Given the description of an element on the screen output the (x, y) to click on. 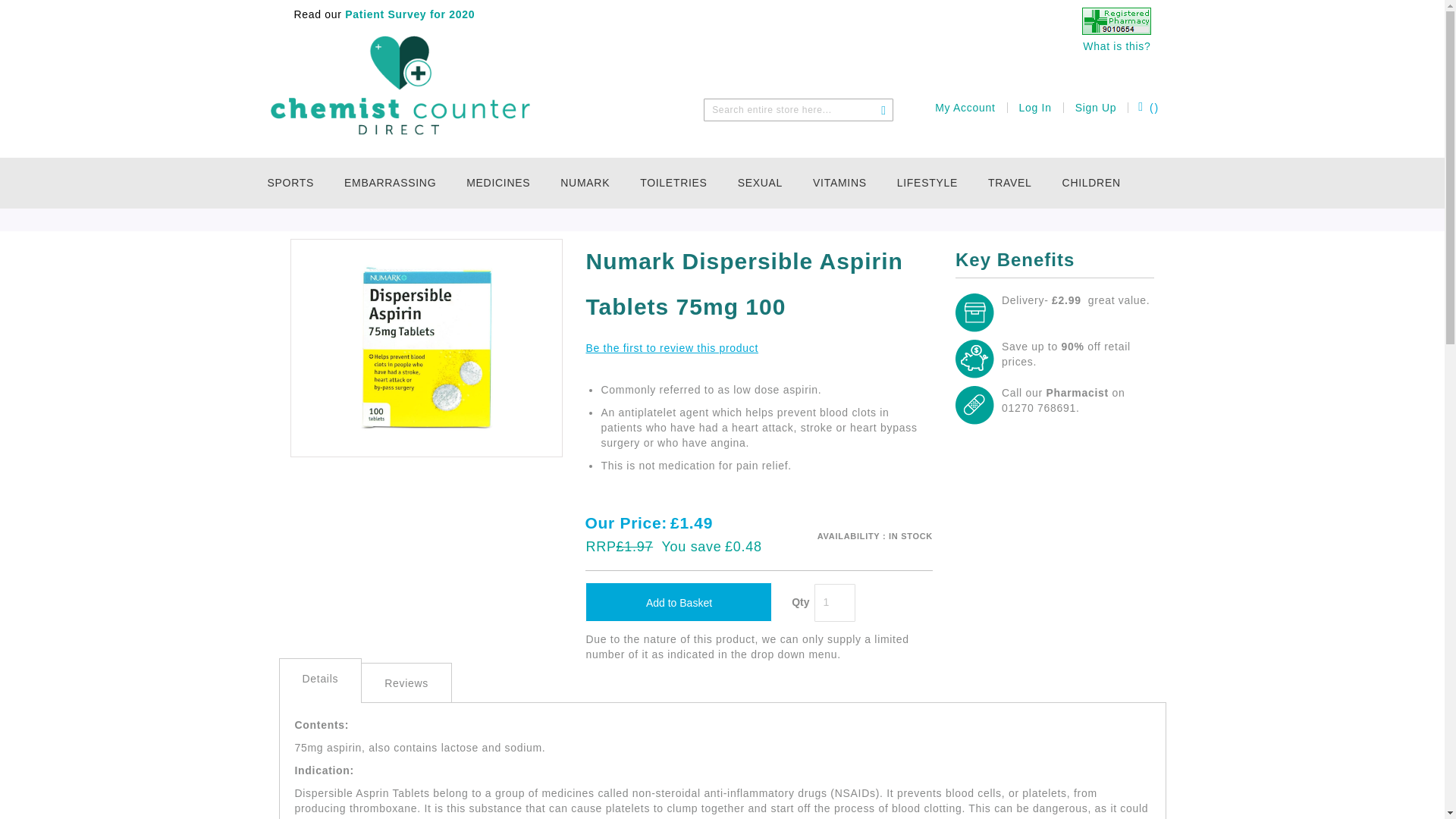
Qty (834, 602)
My Account (964, 107)
Availability (874, 536)
Sign Up (1095, 107)
SPORTS (297, 183)
EMBARRASSING (393, 183)
Log In (1035, 107)
Sign Up (1095, 107)
Online Pharmacy (1115, 30)
My Account (964, 107)
Patient Survey for 2020 (409, 14)
Log In (1035, 107)
What is this? (1116, 46)
Add to Basket (678, 601)
